Given the description of an element on the screen output the (x, y) to click on. 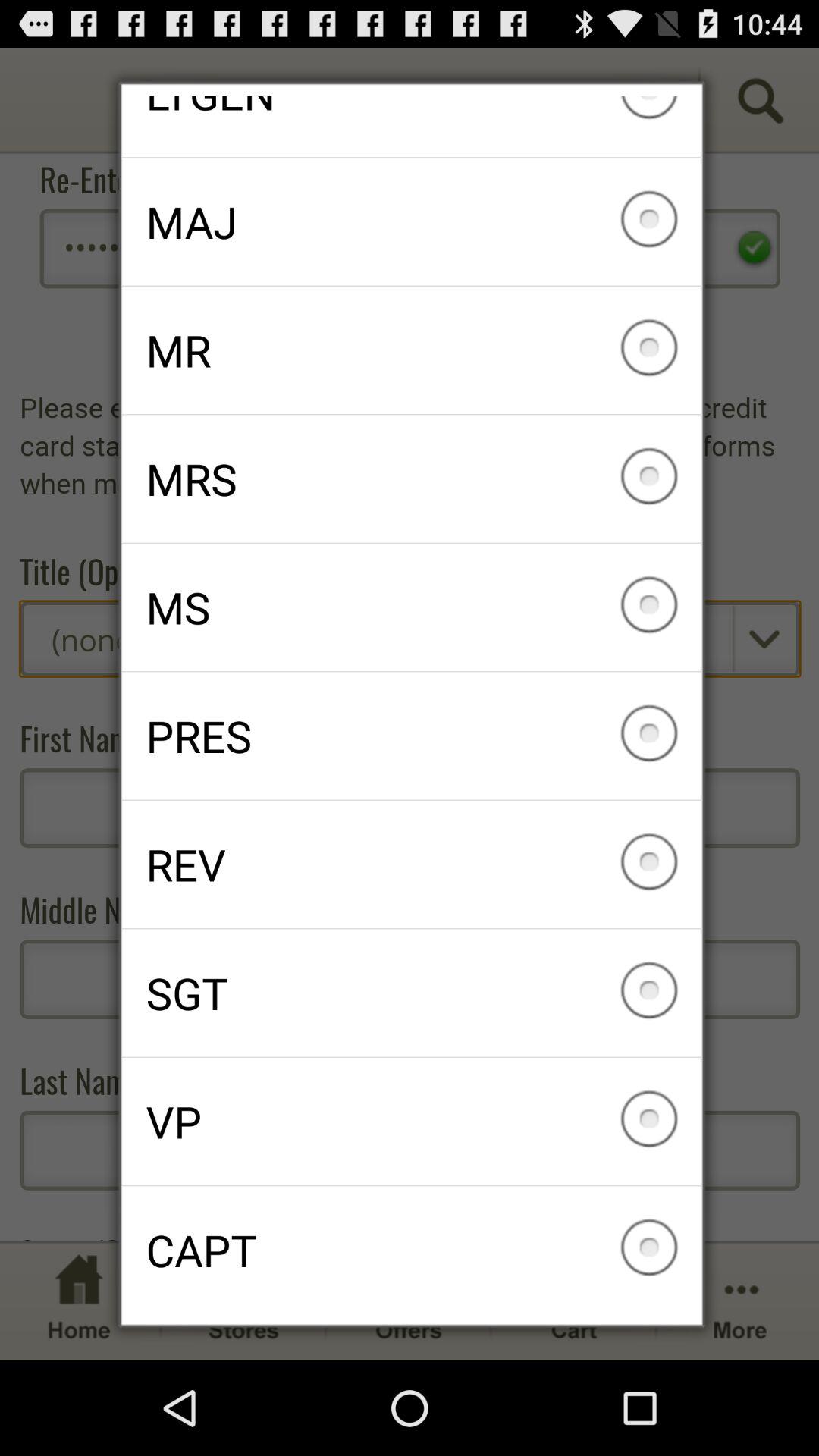
swipe until maj icon (411, 221)
